Given the description of an element on the screen output the (x, y) to click on. 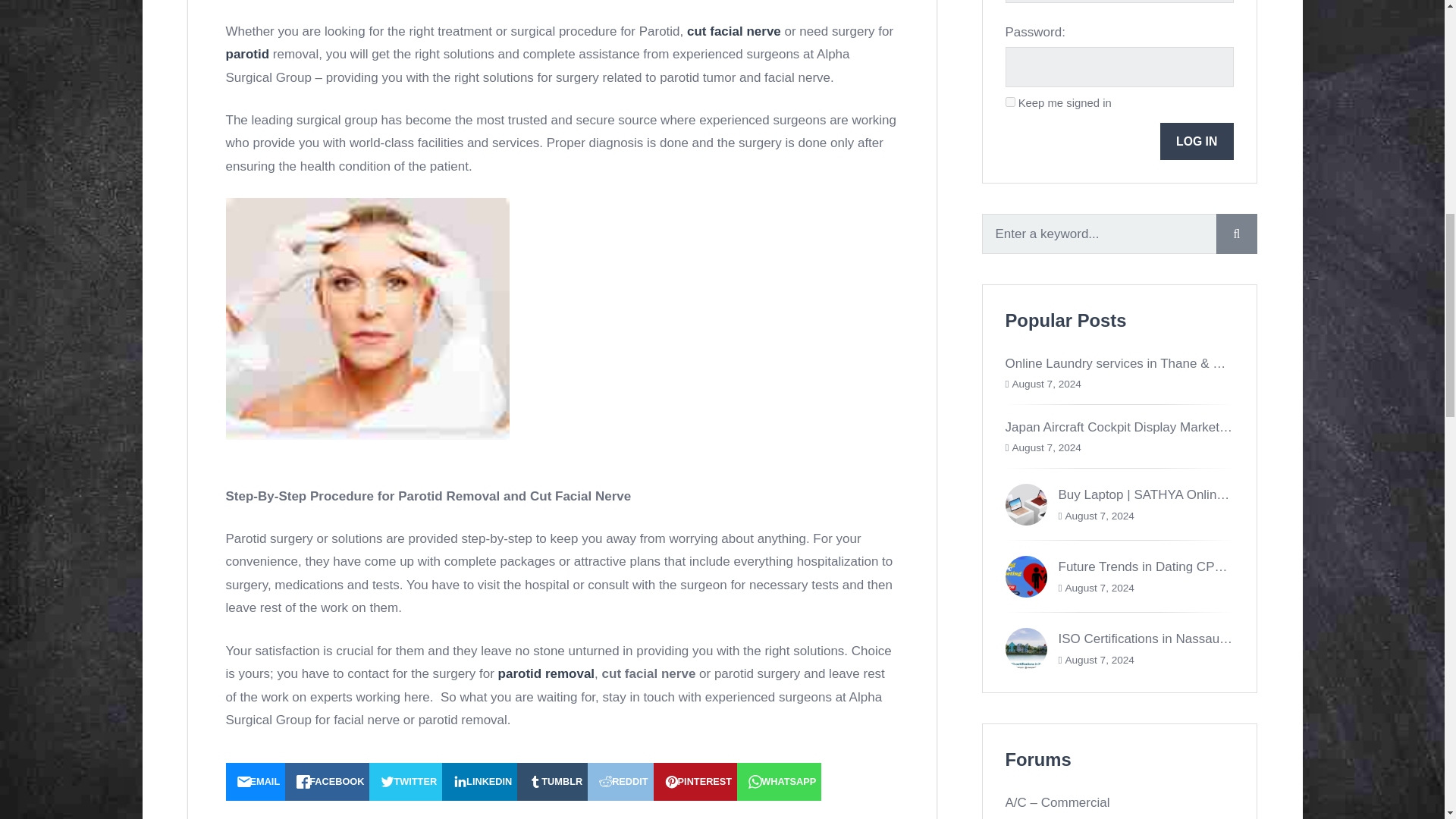
August 7, 2024 (1045, 447)
August 7, 2024 (1099, 515)
ISO Certifications in Nassau and How Pacific Certifications (1225, 638)
LINKEDIN (479, 781)
PINTEREST (695, 781)
WHATSAPP (778, 781)
Future Trends in Dating CPC Marketing: What to Watch for in (1232, 566)
TUMBLR (552, 781)
parotid removal (546, 673)
cut facial nerve (733, 31)
